Given the description of an element on the screen output the (x, y) to click on. 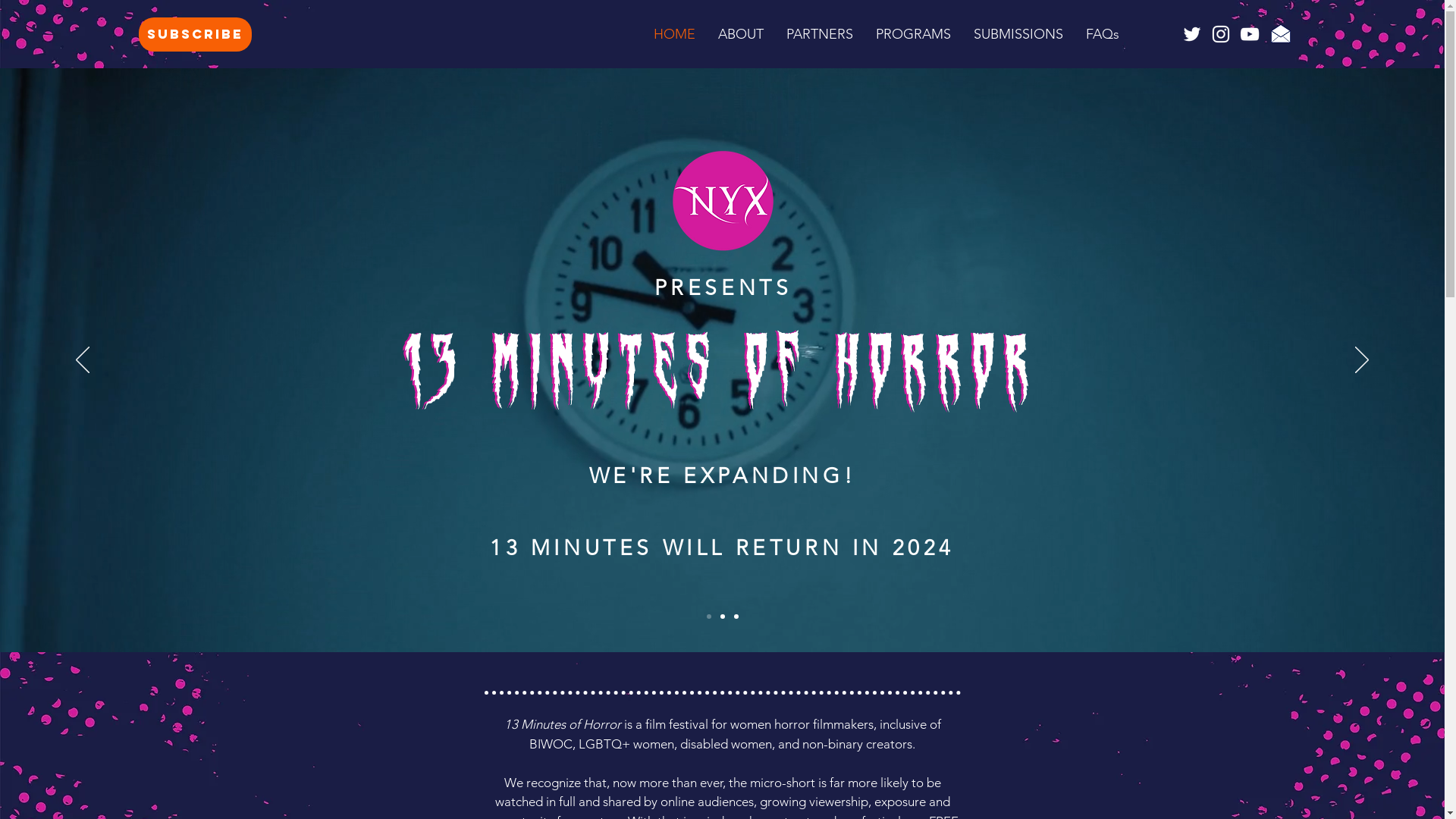
SUBSCRIBE Element type: text (194, 34)
HOME Element type: text (674, 34)
FAQs Element type: text (1102, 34)
ABOUT Element type: text (740, 34)
PROGRAMS Element type: text (913, 34)
SUBMISSIONS Element type: text (1018, 34)
PARTNERS Element type: text (819, 34)
